Given the description of an element on the screen output the (x, y) to click on. 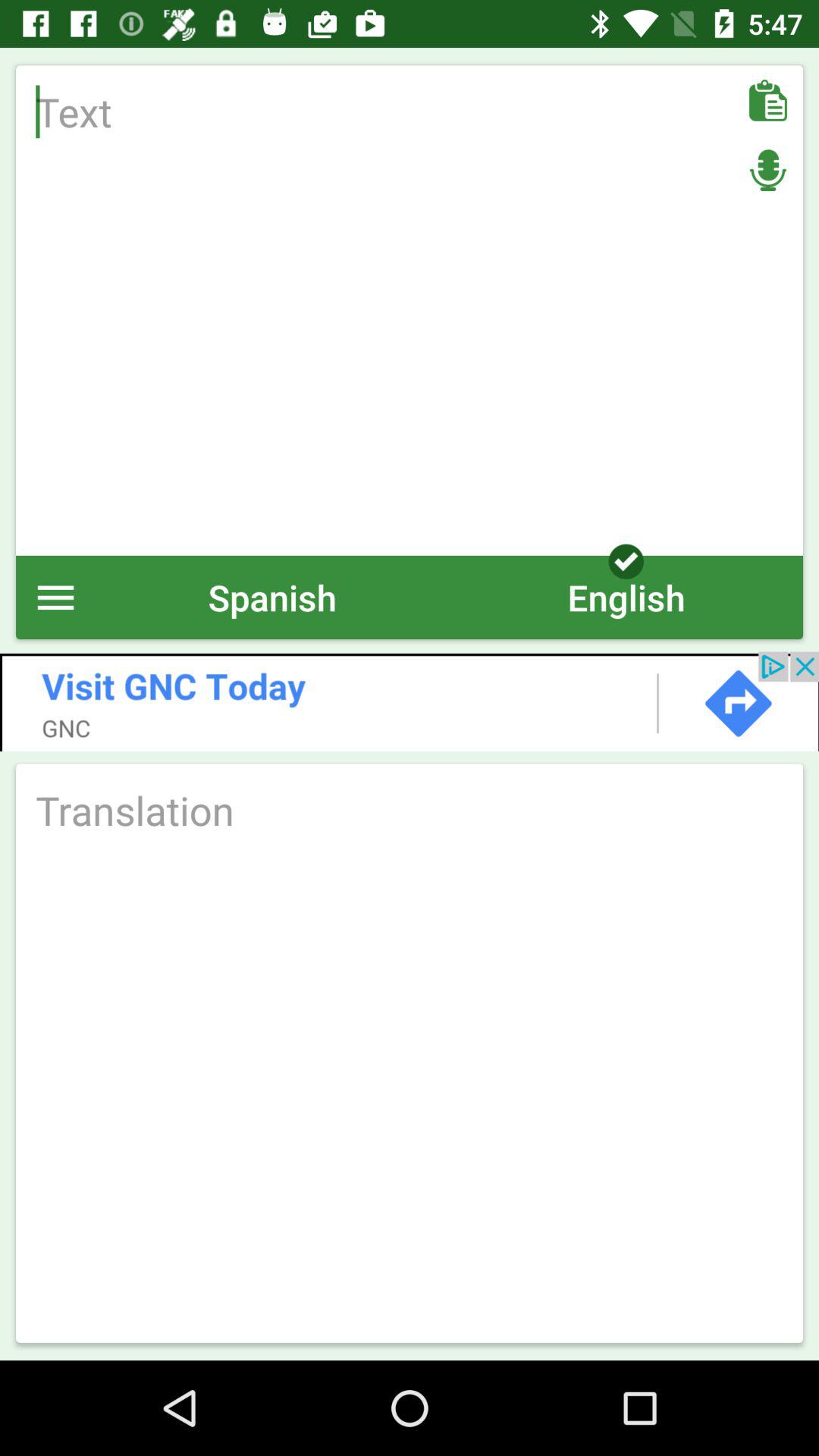
advertisement (409, 701)
